Given the description of an element on the screen output the (x, y) to click on. 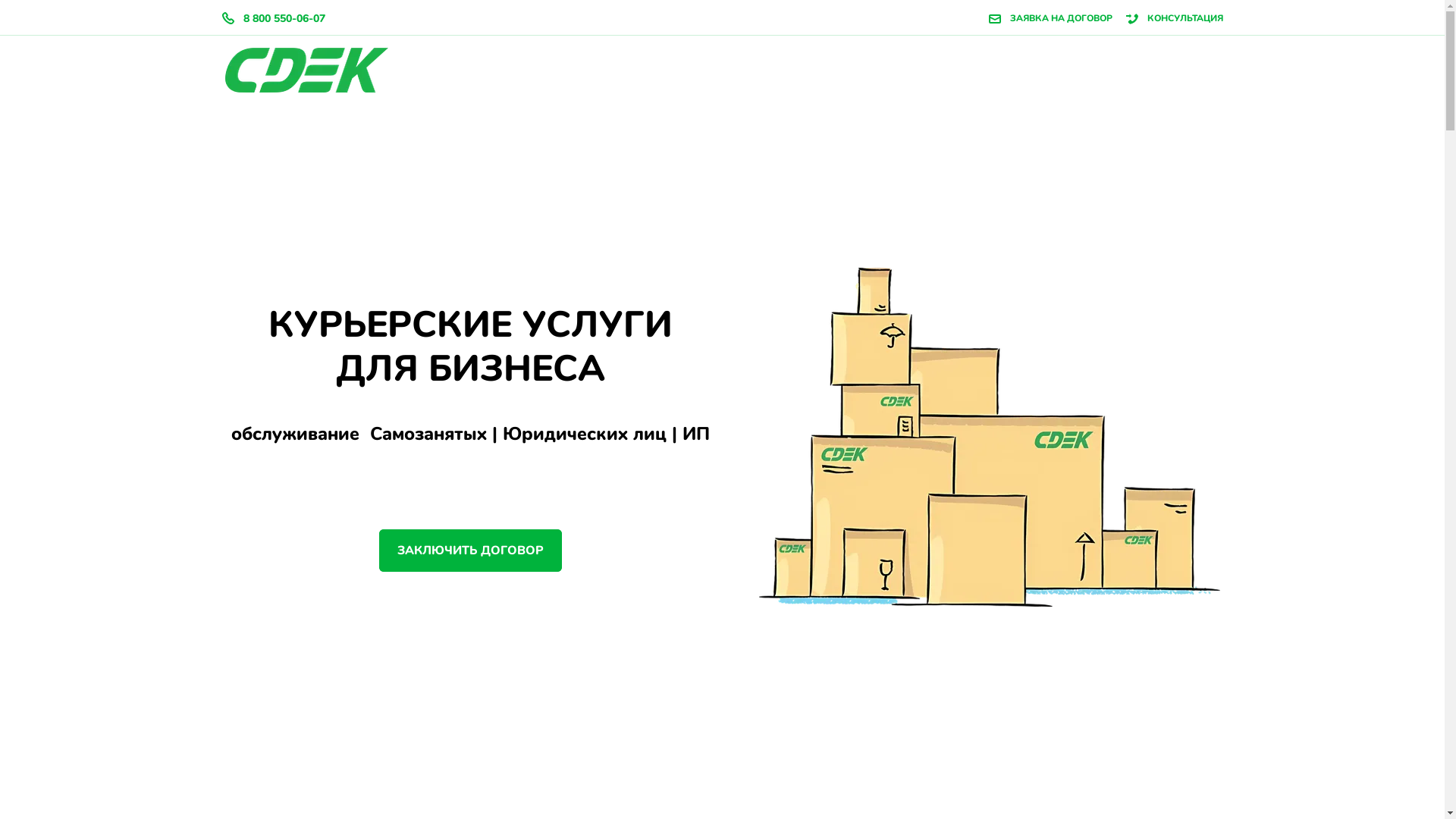
8 800 550-06-07 Element type: text (278, 18)
